Given the description of an element on the screen output the (x, y) to click on. 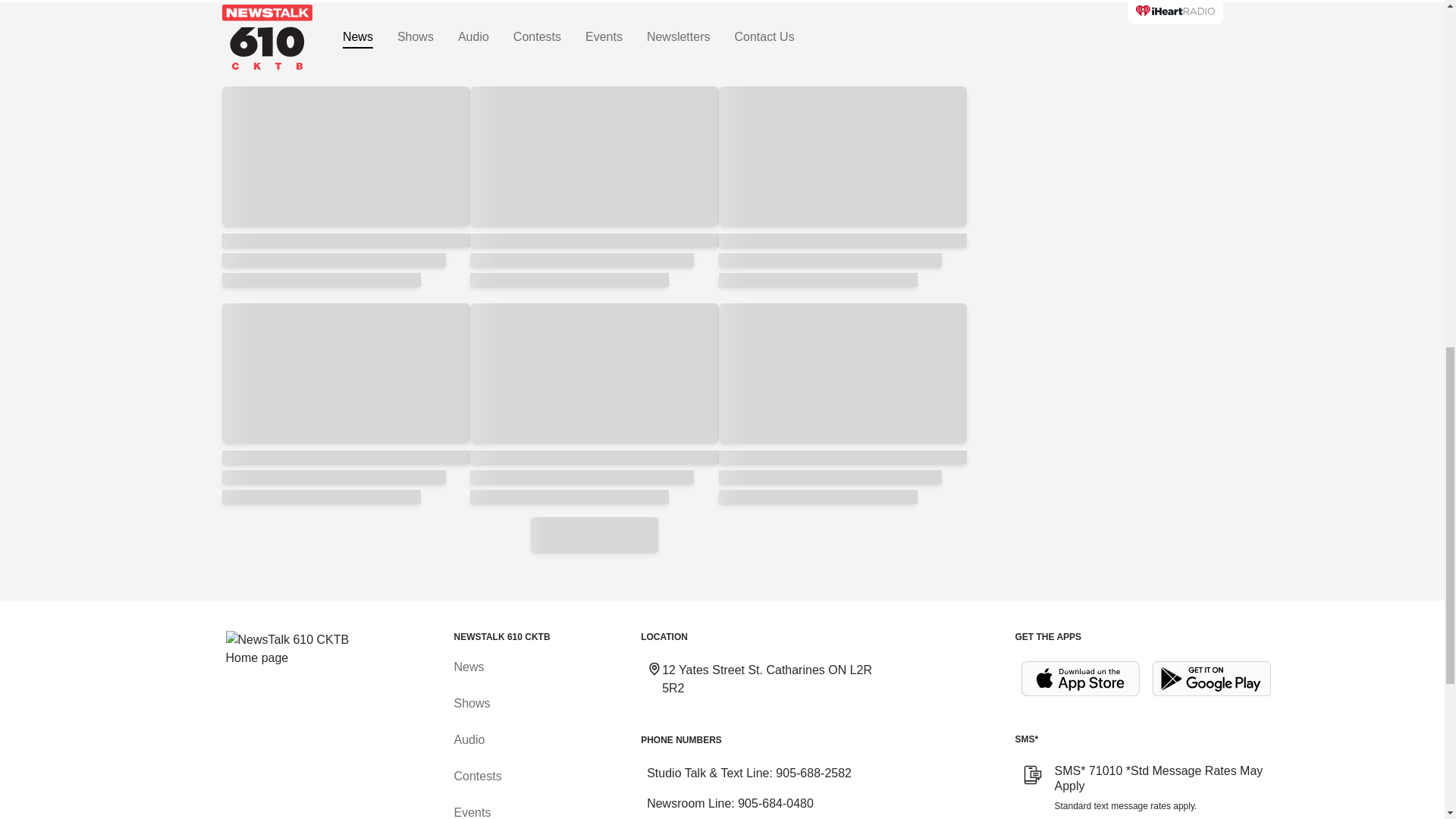
Audio (468, 739)
Shows (470, 703)
Events (471, 812)
905-684-0480 (775, 802)
905-688-2582 (813, 772)
Get it on Google Play (1212, 678)
Contests (476, 775)
News (467, 666)
Download on the App Store (1080, 678)
